Given the description of an element on the screen output the (x, y) to click on. 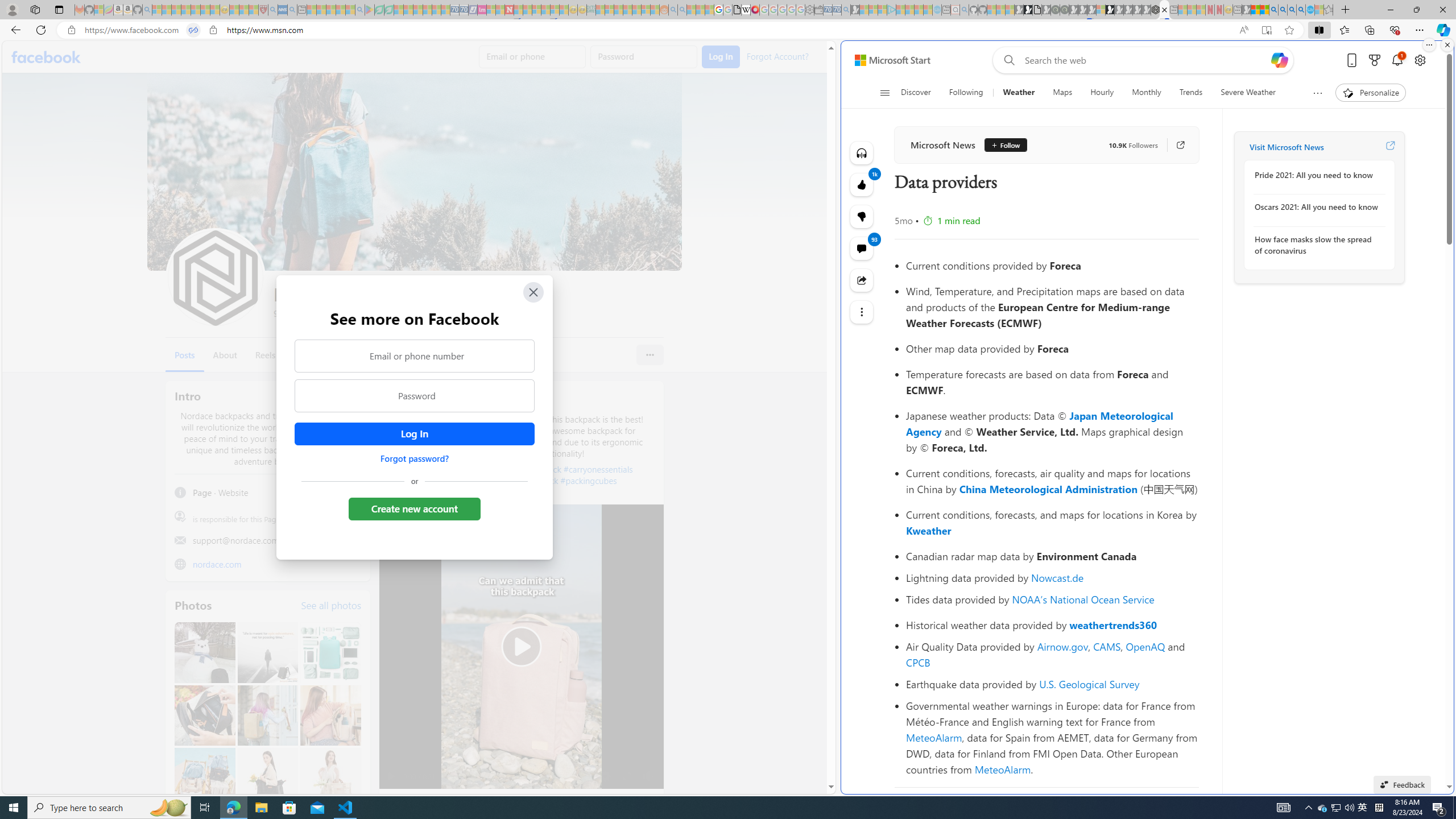
Japan Meteorological Agency (1039, 423)
utah sues federal government - Search - Sleeping (291, 9)
Go to publisher's site (1174, 144)
Canadian radar map data by Environment Canada (1051, 555)
Current conditions provided by Foreca (1051, 265)
Weather (1017, 92)
Visit Microsoft News website (1390, 146)
Facebook (46, 56)
New Tab (1346, 9)
Bing Real Estate - Home sales and rental listings - Sleeping (846, 9)
MeteoAlarm (1002, 769)
